Given the description of an element on the screen output the (x, y) to click on. 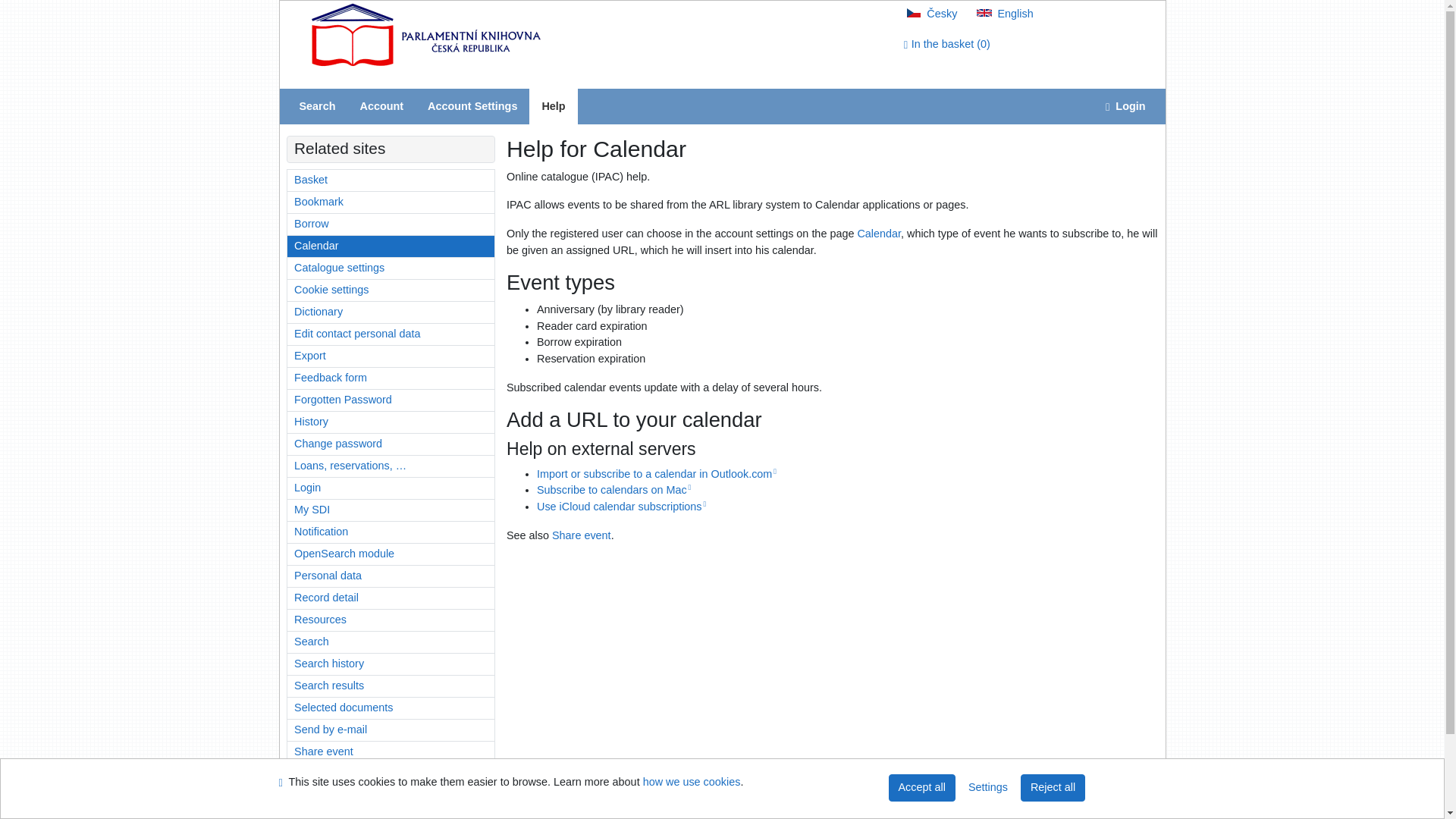
Feedback form (390, 378)
Calendar (879, 233)
Forgotten Password (390, 400)
OpenSearch module (390, 554)
Login (390, 487)
Search (316, 106)
Settings (471, 106)
Borrow (390, 224)
Share event (581, 535)
Tool for further record proceeding (390, 201)
Import or subscribe to a calendar in Outlook.com (657, 473)
My SDI (390, 509)
Notification (390, 531)
Account (380, 106)
Catalogue settings (390, 268)
